Given the description of an element on the screen output the (x, y) to click on. 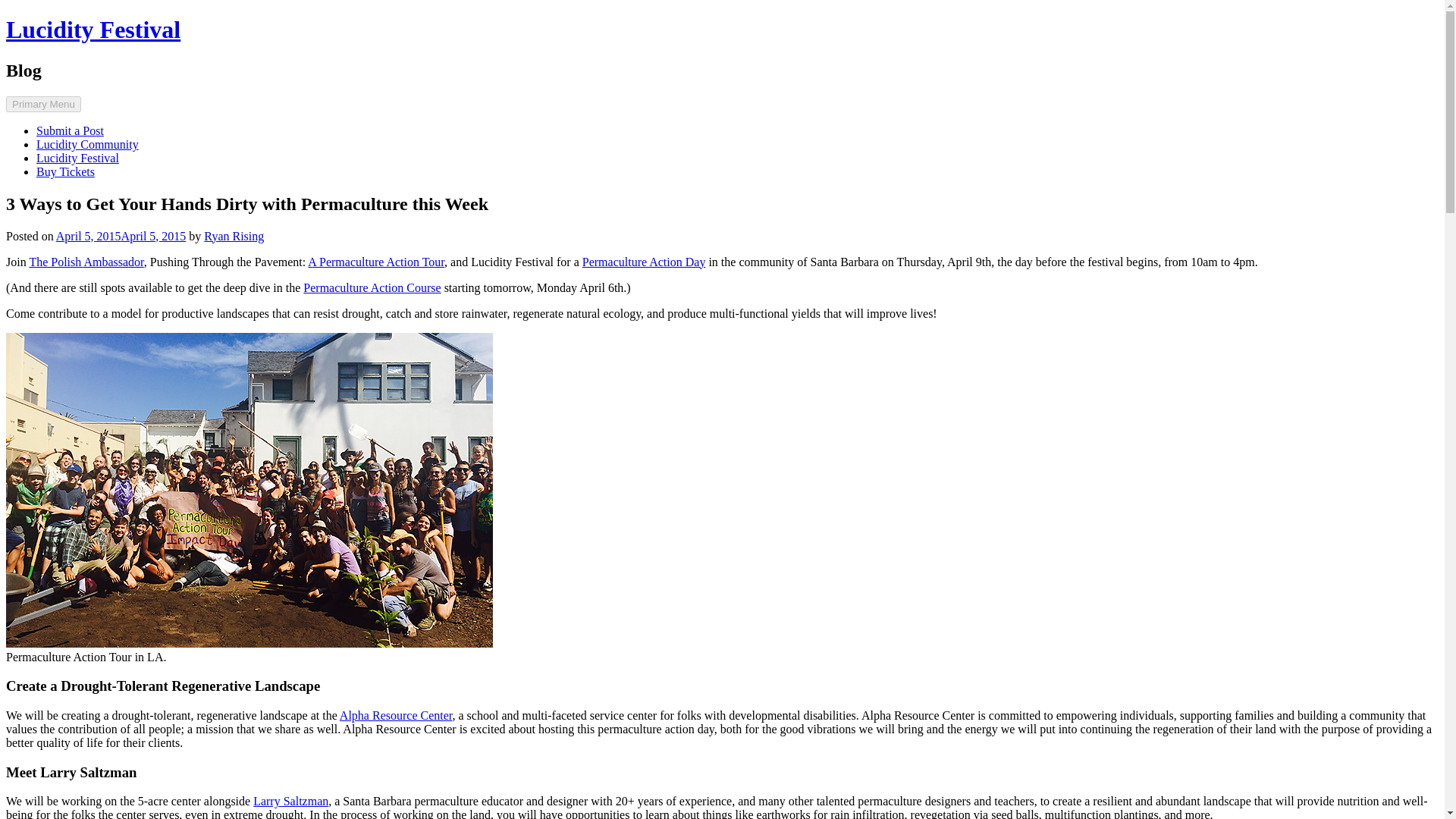
Buy Tickets (65, 171)
permaculture action course (371, 287)
Larry (291, 800)
Larry Saltzman (291, 800)
Permaculture Action tour (375, 261)
A Permaculture Action Tour (375, 261)
Lucidity Festival (77, 157)
Permaculture Action Course (371, 287)
Primary Menu (43, 104)
Alpha Resource Center (395, 715)
